Given the description of an element on the screen output the (x, y) to click on. 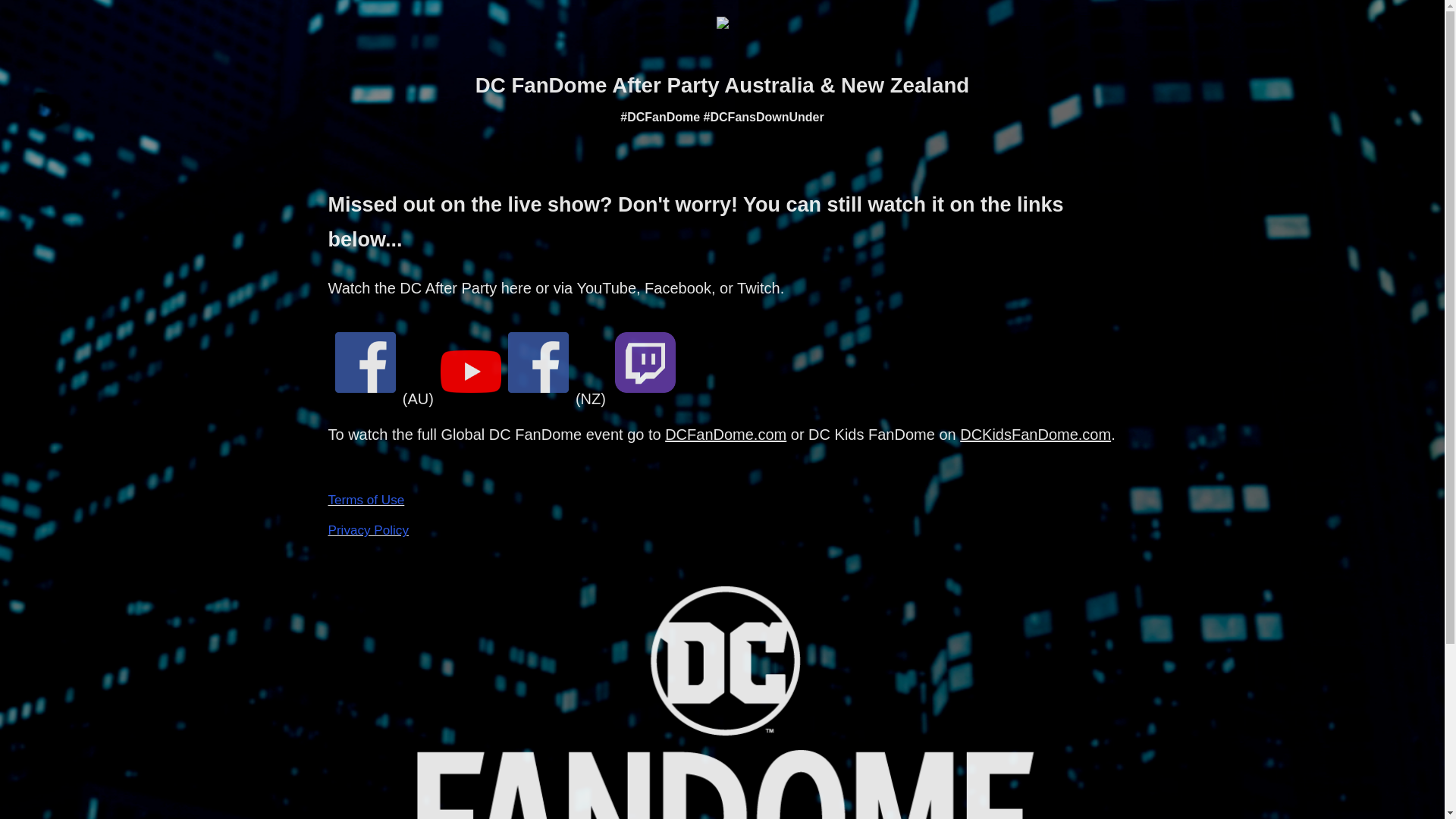
Terms of Use Element type: text (365, 499)
DCKidsFanDome.com Element type: text (1035, 434)
Privacy Policy Element type: text (367, 530)
DCFanDome.com Element type: text (725, 434)
